Given the description of an element on the screen output the (x, y) to click on. 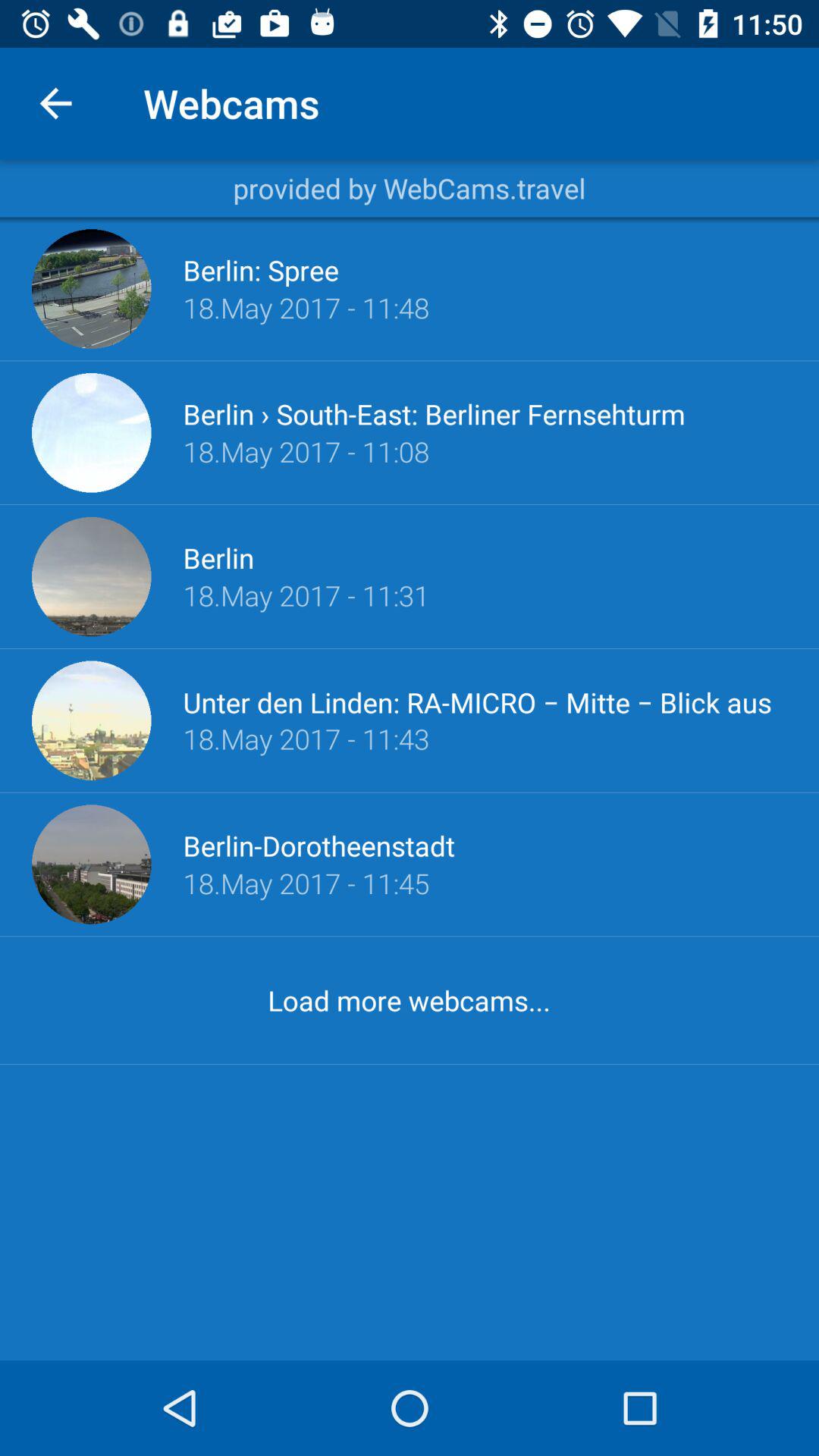
scroll until berlin south east icon (434, 413)
